Given the description of an element on the screen output the (x, y) to click on. 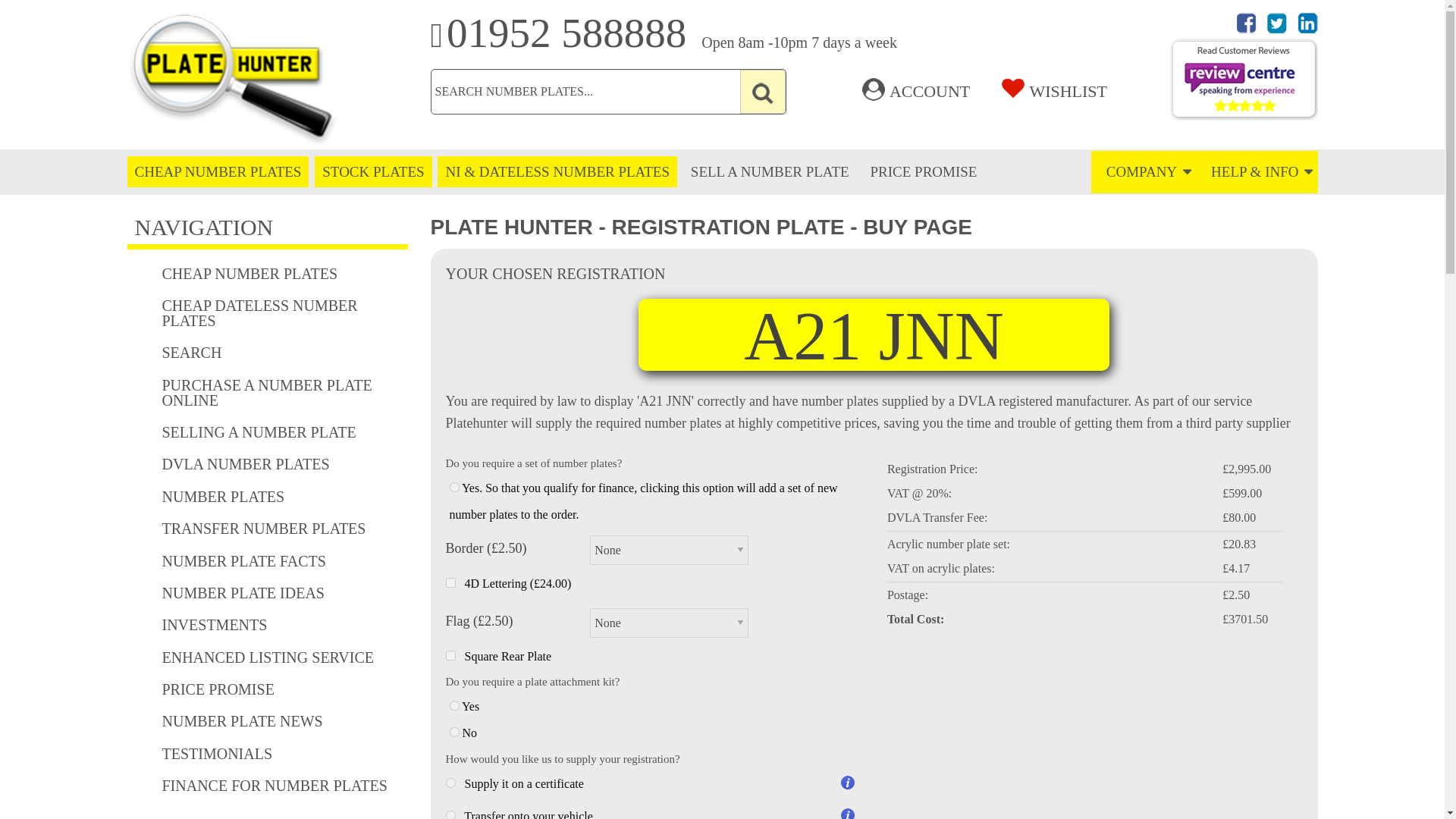
Transfer onto your vehicle (450, 814)
1 (453, 487)
1 (453, 705)
Supply it on a certificate (450, 782)
0 (453, 732)
on (450, 583)
on (450, 655)
